Given the description of an element on the screen output the (x, y) to click on. 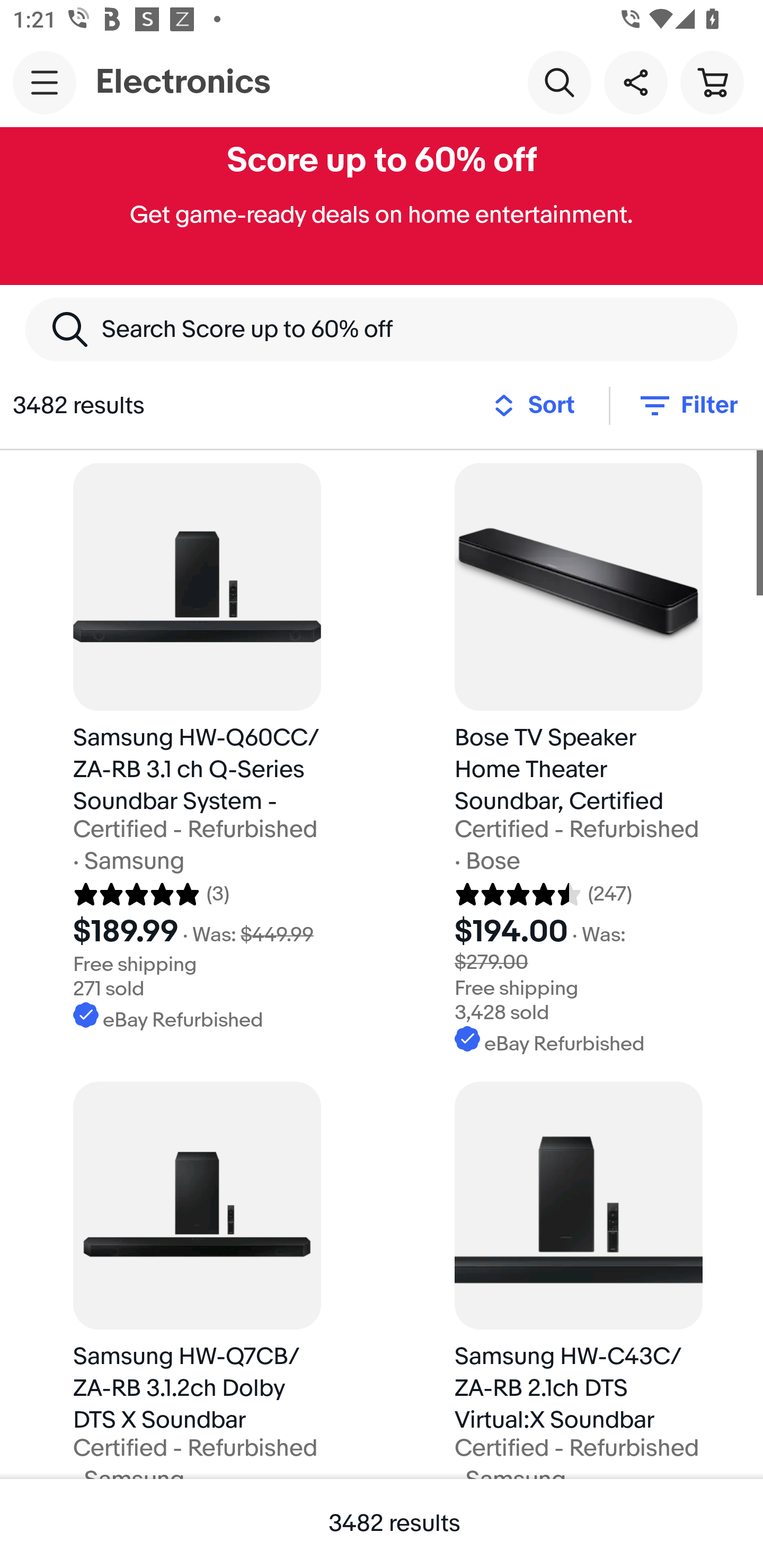
Main navigation, open (44, 82)
Search (559, 81)
Share this item (635, 81)
Cart button shopping cart (711, 81)
Search Score up to 60% off (381, 328)
Sort (538, 405)
Filter (686, 405)
